Given the description of an element on the screen output the (x, y) to click on. 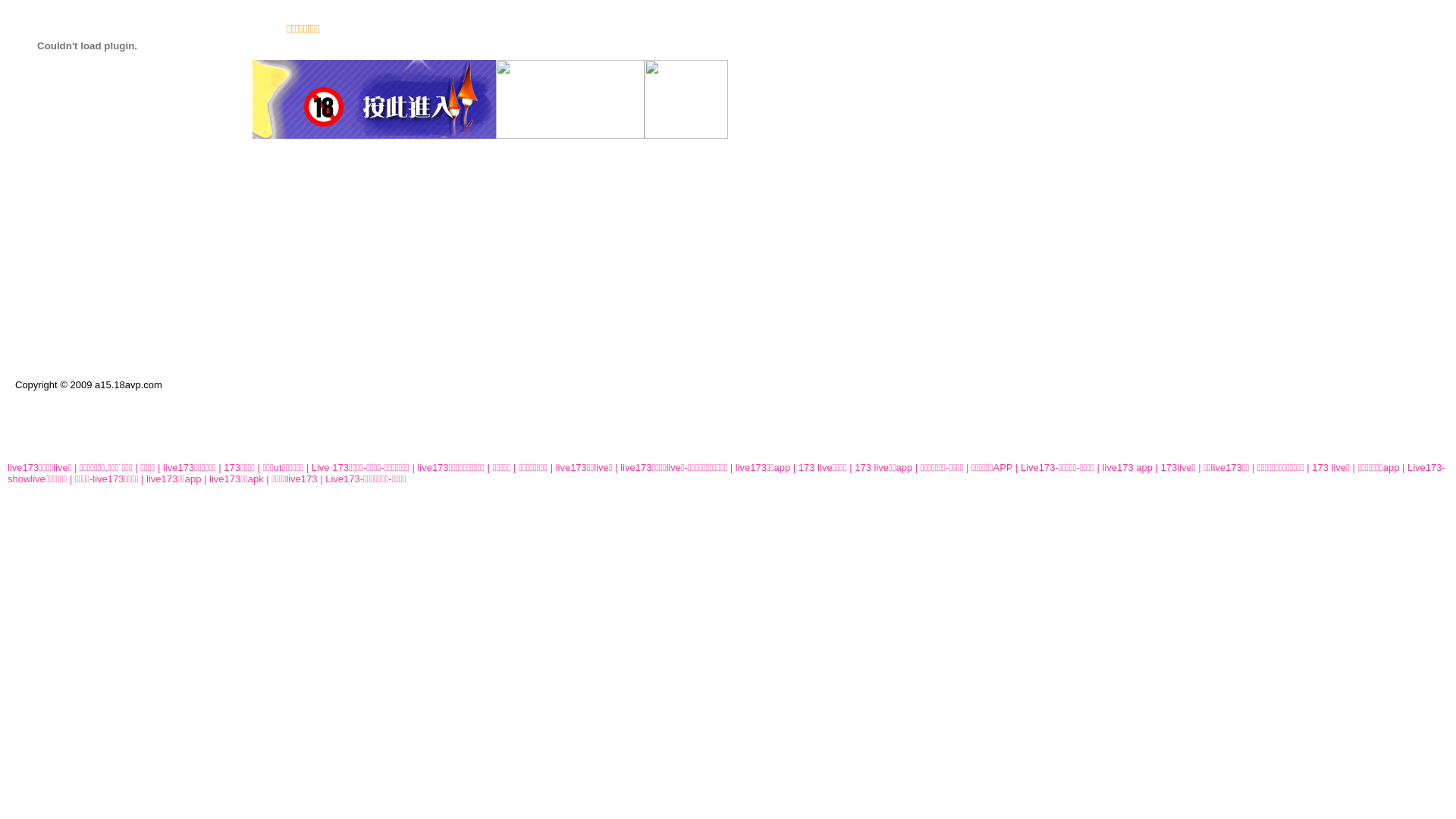
live173 app Element type: text (1126, 467)
